Given the description of an element on the screen output the (x, y) to click on. 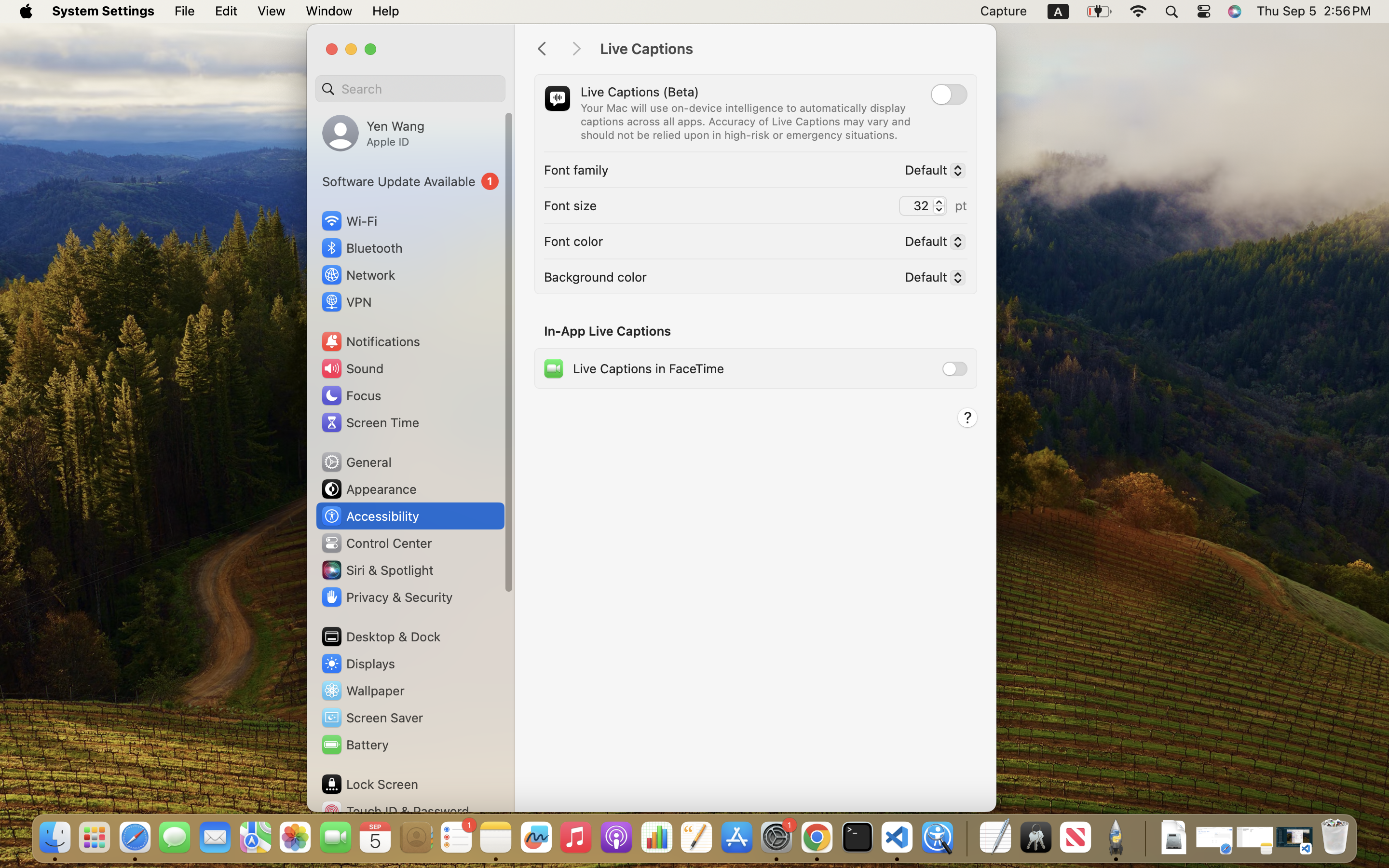
Accessibility Element type: AXStaticText (369, 515)
Focus Element type: AXStaticText (350, 394)
Background color Element type: AXStaticText (595, 276)
Siri & Spotlight Element type: AXStaticText (376, 569)
Screen Time Element type: AXStaticText (369, 422)
